Given the description of an element on the screen output the (x, y) to click on. 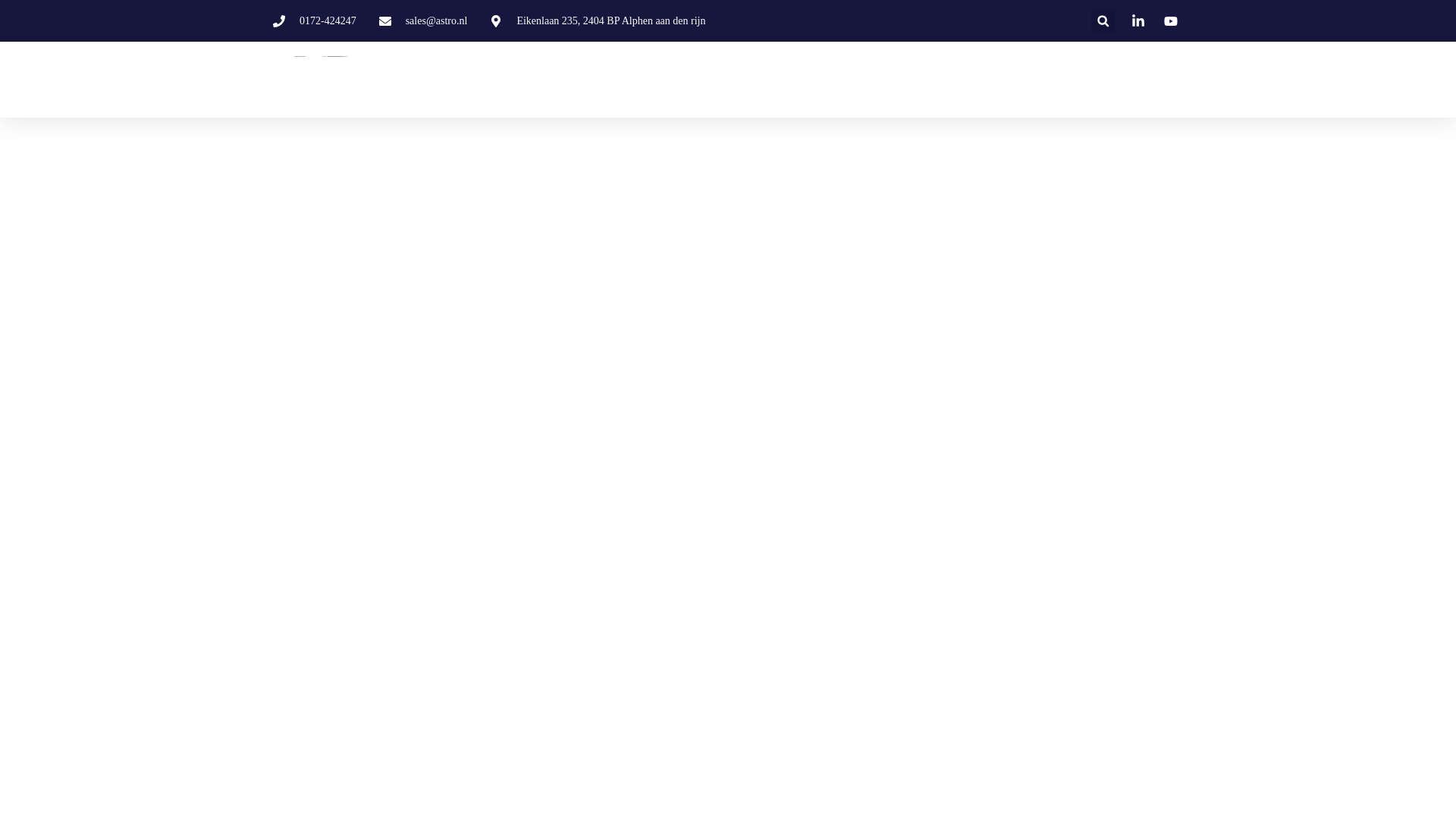
0172-424247 (314, 20)
